Given the description of an element on the screen output the (x, y) to click on. 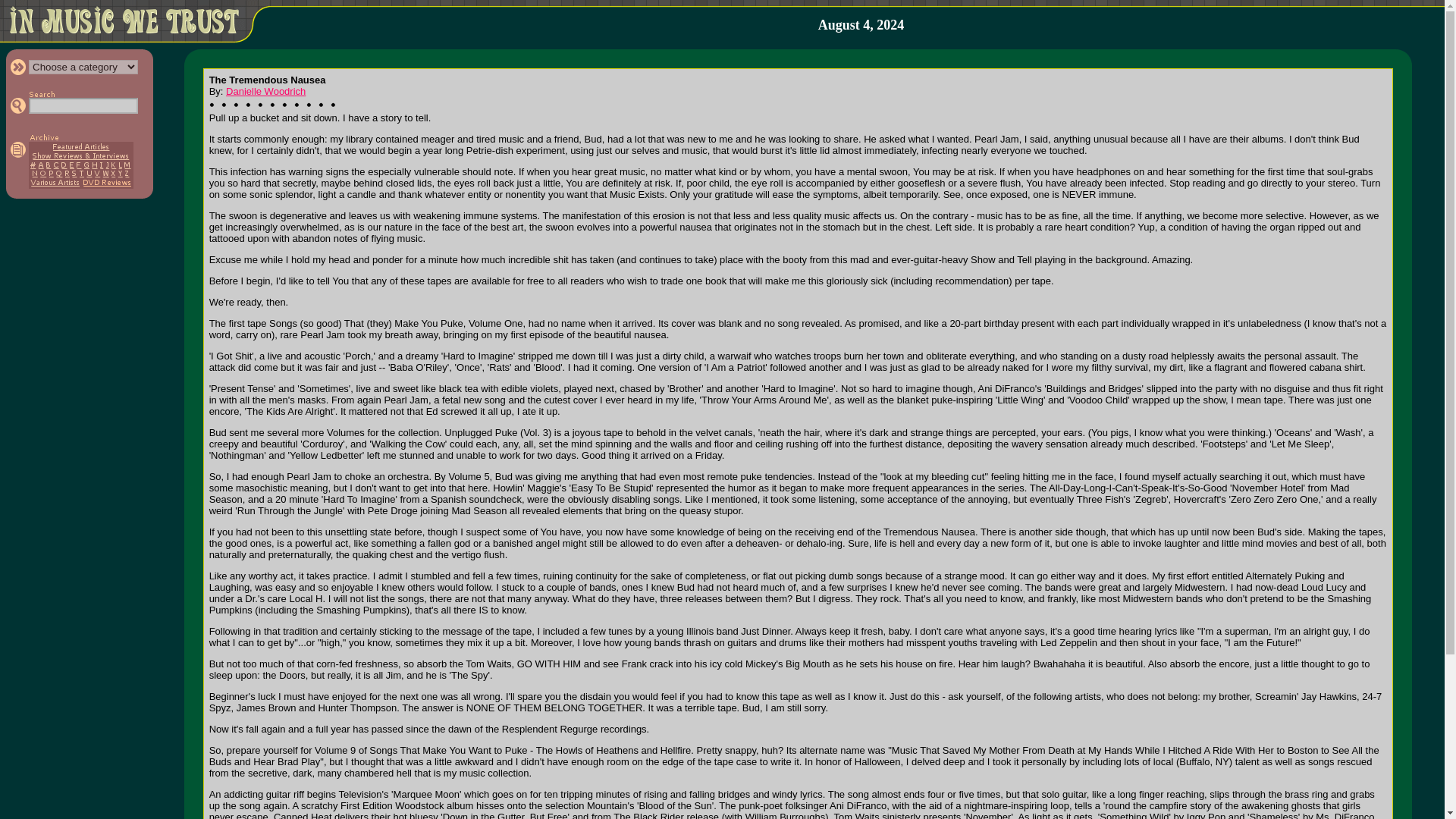
August 4, 2024 (861, 24)
Danielle Woodrich (265, 91)
